Given the description of an element on the screen output the (x, y) to click on. 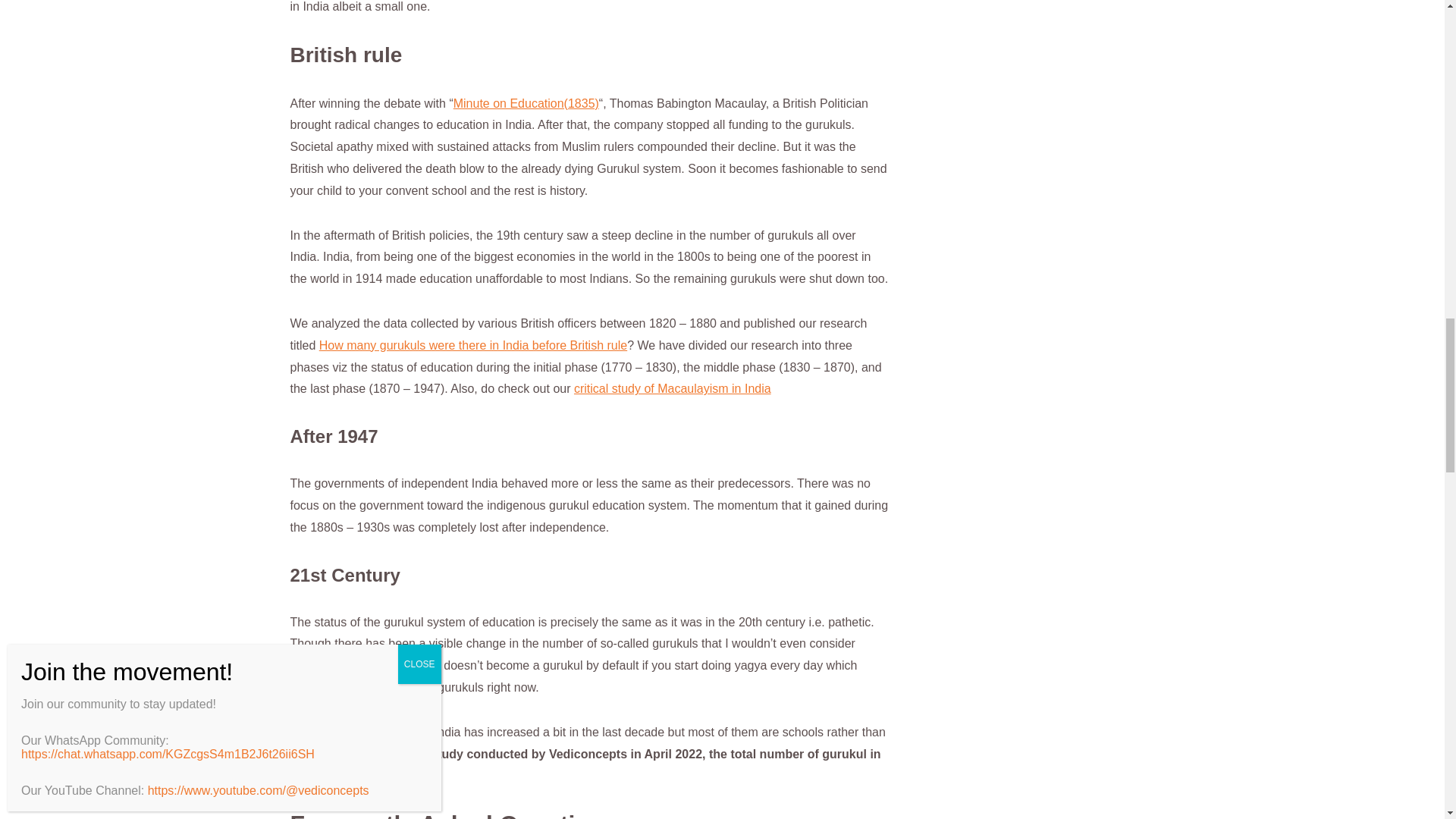
critical study of Macaulayism in India (672, 388)
How many gurukuls were there in India before British rule (472, 345)
